Given the description of an element on the screen output the (x, y) to click on. 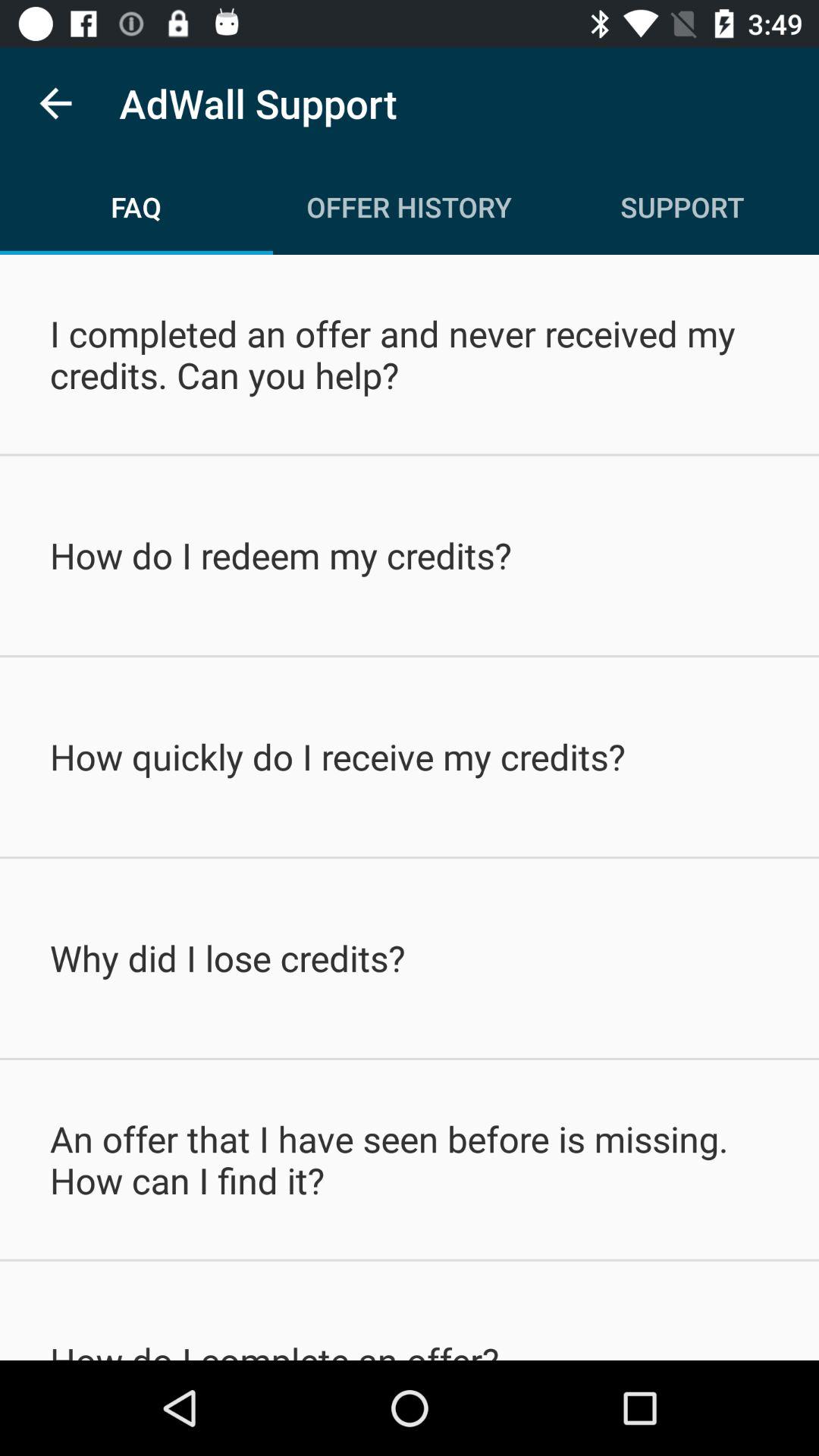
tap why did i item (409, 957)
